Given the description of an element on the screen output the (x, y) to click on. 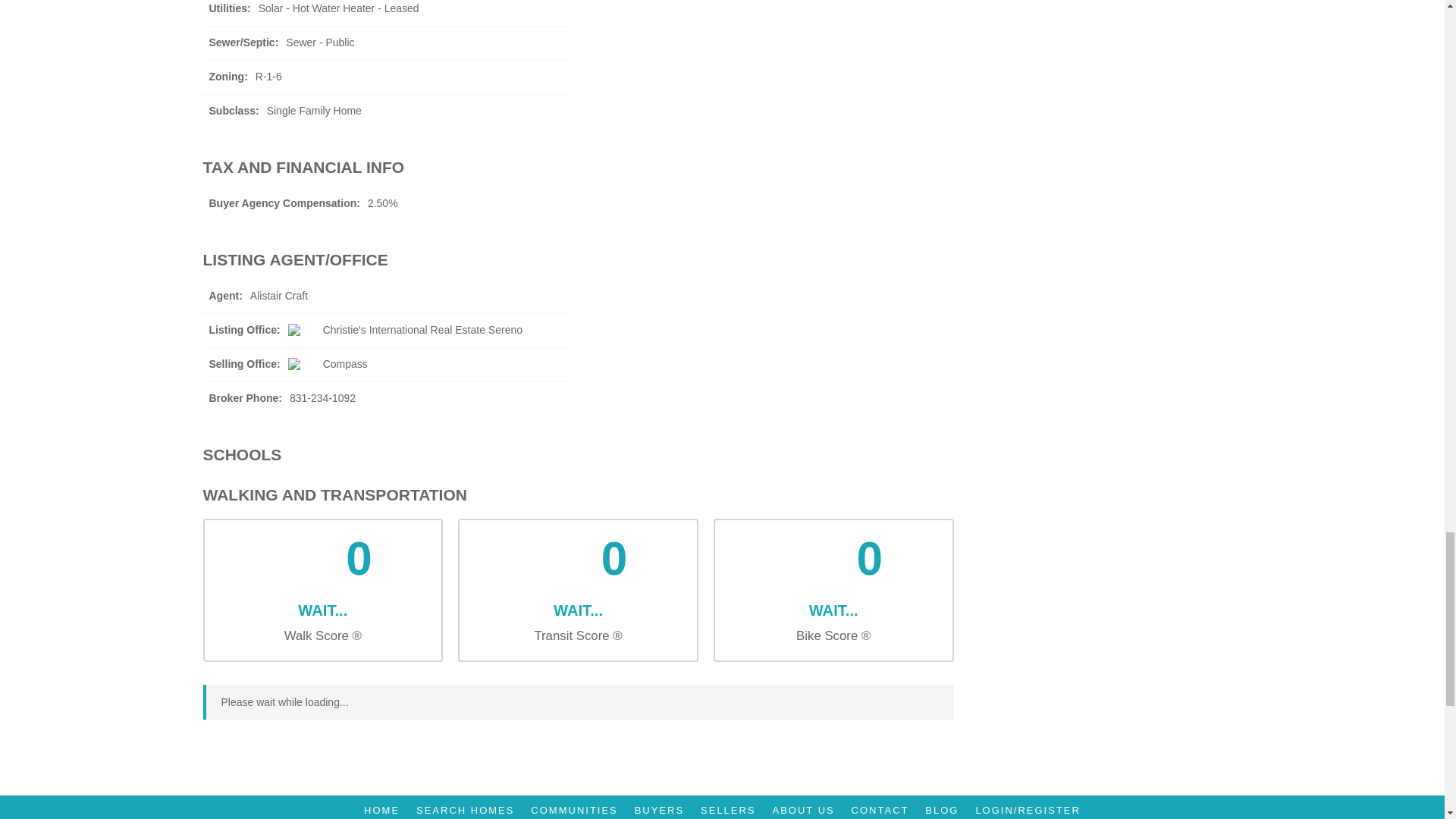
SCHOOLS (578, 454)
